Given the description of an element on the screen output the (x, y) to click on. 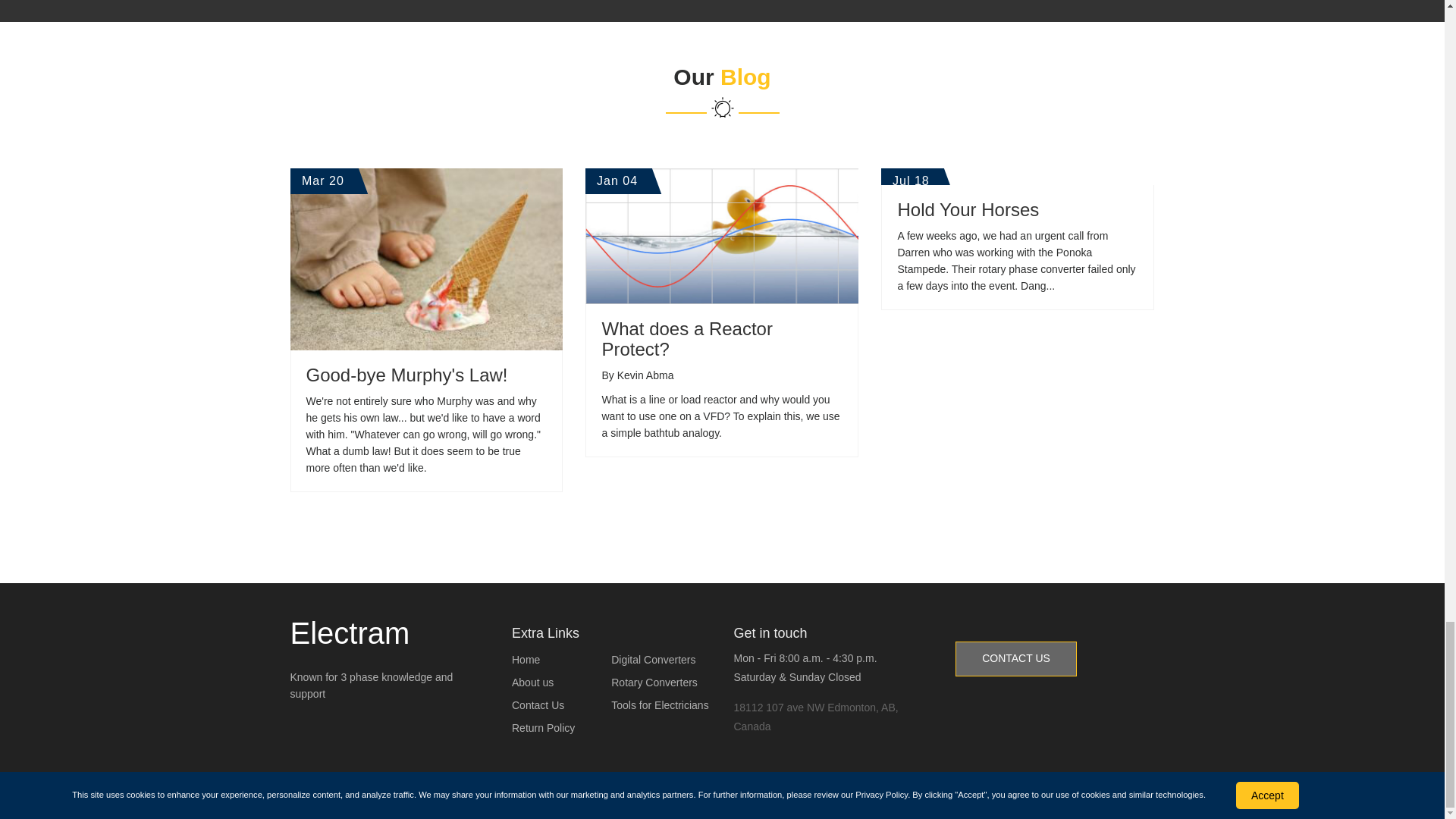
Hold Your Horses (967, 209)
Our Blog (721, 101)
18112 107 ave NW Edmonton, AB, Canada (815, 716)
About us (561, 682)
Return Policy (561, 728)
What does a Reactor Protect? (686, 338)
Jul 18 (1017, 176)
Digital Converters (660, 660)
Good-bye Murphy's Law! (406, 374)
Mar 20 (425, 259)
Tools for Electricians (660, 705)
Jan 04 (722, 236)
CONTACT US (1016, 658)
Contact Us (561, 705)
Home (561, 660)
